Given the description of an element on the screen output the (x, y) to click on. 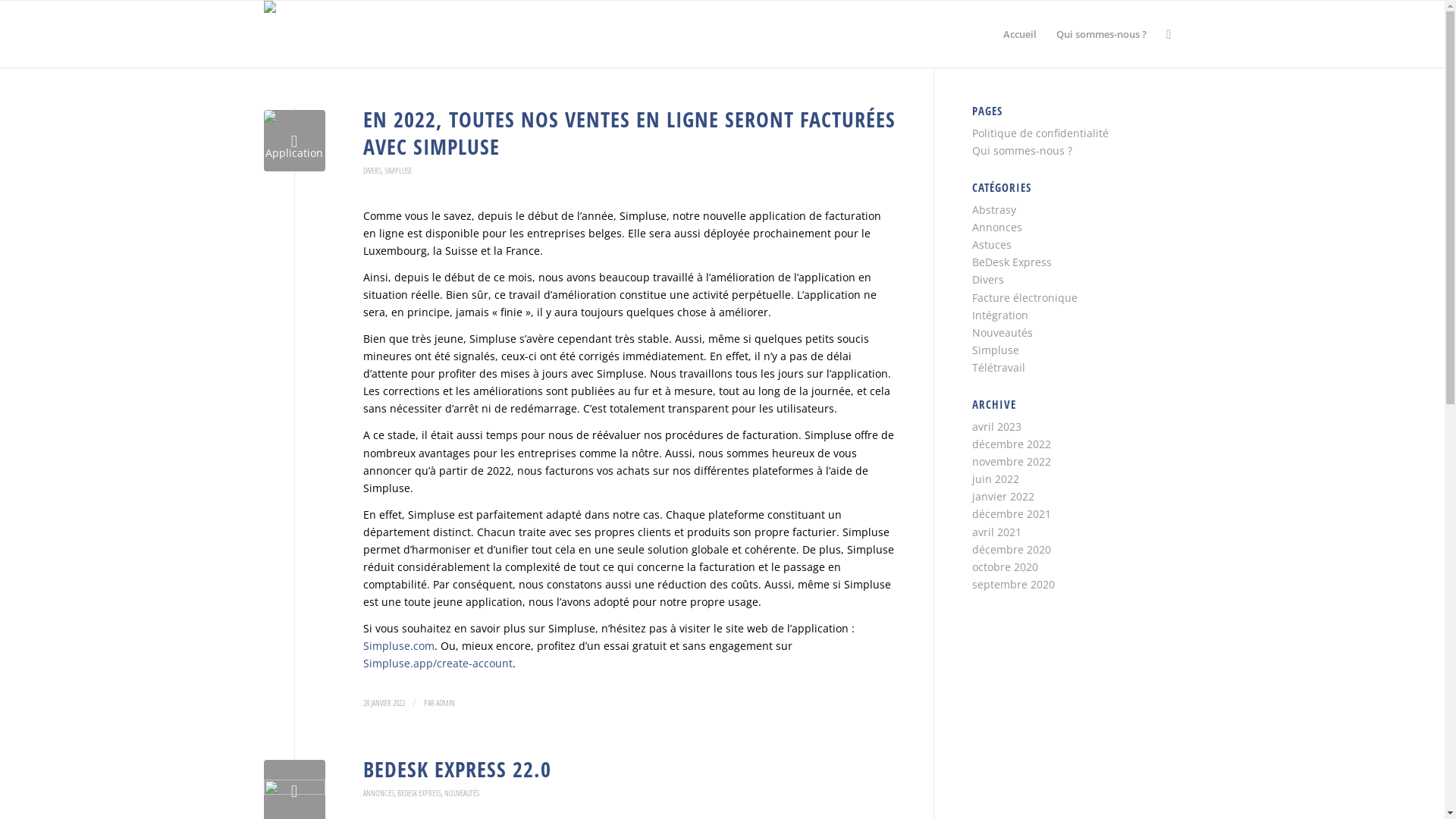
DIVERS Element type: text (371, 169)
avril 2021 Element type: text (996, 531)
BEDESK EXPRESS 22.0 Element type: text (456, 768)
novembre 2022 Element type: text (1011, 461)
Astuces Element type: text (991, 244)
ADMIN Element type: text (444, 702)
SIMPLUSE Element type: text (397, 169)
Abstrasy Element type: text (994, 209)
BeDesk Express Element type: text (1011, 261)
Simpluse Element type: text (995, 349)
Qui sommes-nous ? Element type: text (1101, 33)
avril 2023 Element type: text (996, 426)
octobre 2020 Element type: text (1005, 566)
Accueil Element type: text (1019, 33)
janvier 2022 Element type: text (1003, 496)
ANNONCES Element type: text (377, 792)
Divers Element type: text (988, 279)
Qui sommes-nous ? Element type: text (1022, 150)
juin 2022 Element type: text (995, 478)
BEDESK EXPRESS Element type: text (419, 792)
Simpluse.com Element type: text (397, 645)
Annonces Element type: text (997, 226)
septembre 2020 Element type: text (1013, 584)
Application de facturation en ligne Simpluse 1.1 Element type: hover (294, 140)
Simpluse.app/create-account Element type: text (436, 662)
